Given the description of an element on the screen output the (x, y) to click on. 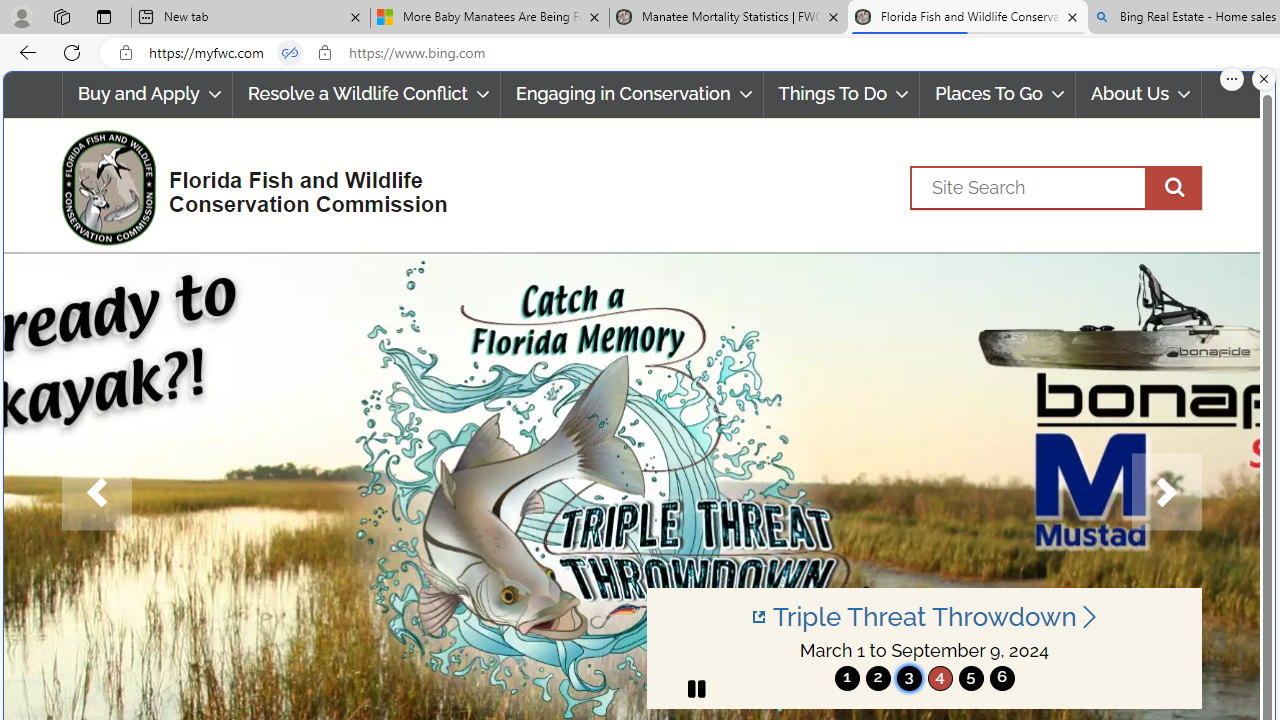
Engaging in Conservation (632, 94)
More options. (1232, 79)
Places To Go (997, 94)
Search (1055, 187)
Places To Go (998, 94)
3 (908, 678)
Close split screen. (1264, 79)
2 (877, 678)
Buy and Apply (146, 94)
View site information (324, 53)
move to slide 4 (939, 678)
Personal Profile (21, 16)
move to slide 2 (877, 678)
execute site search (1173, 187)
